Given the description of an element on the screen output the (x, y) to click on. 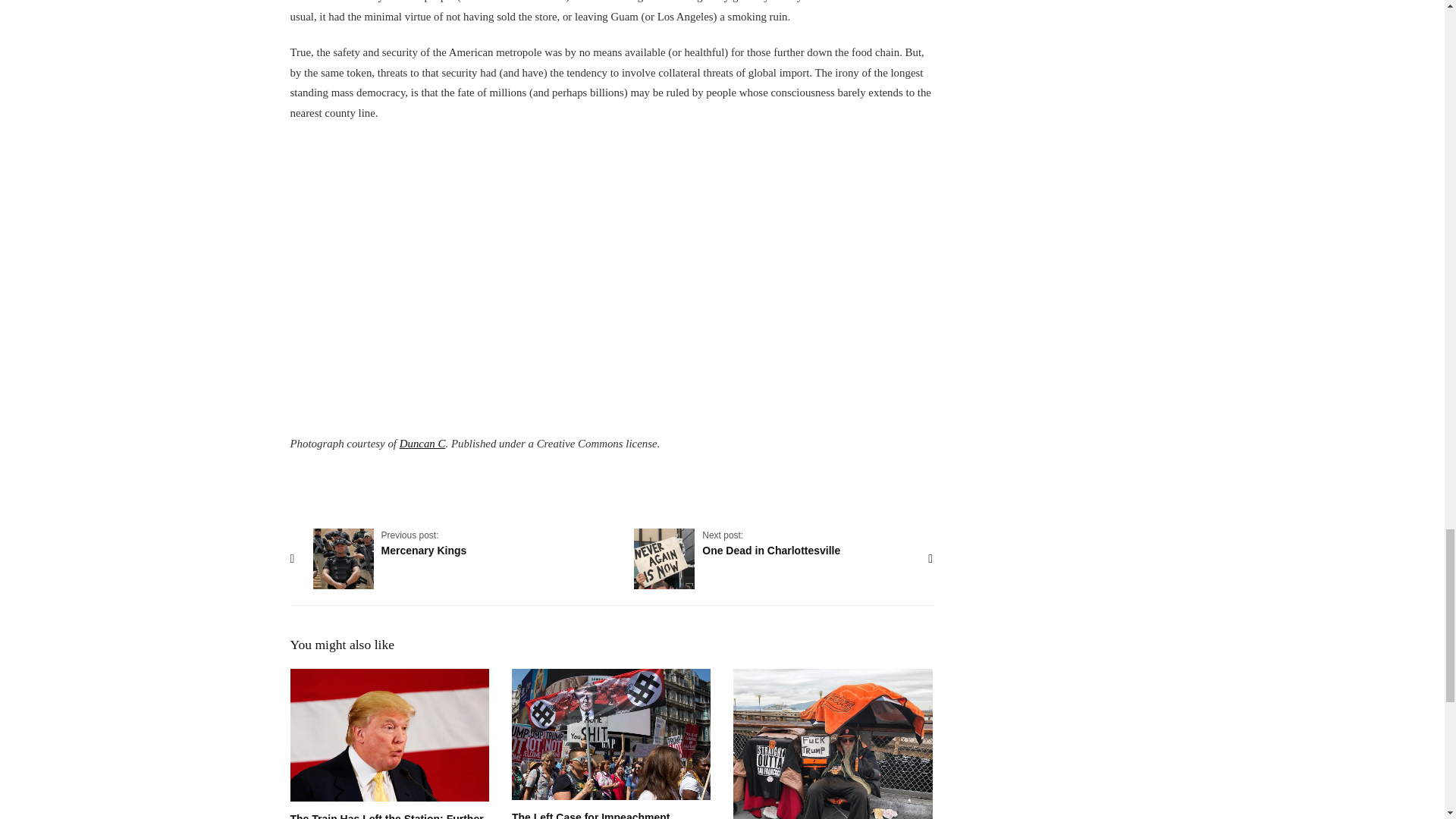
Duncan C (421, 443)
